Given the description of an element on the screen output the (x, y) to click on. 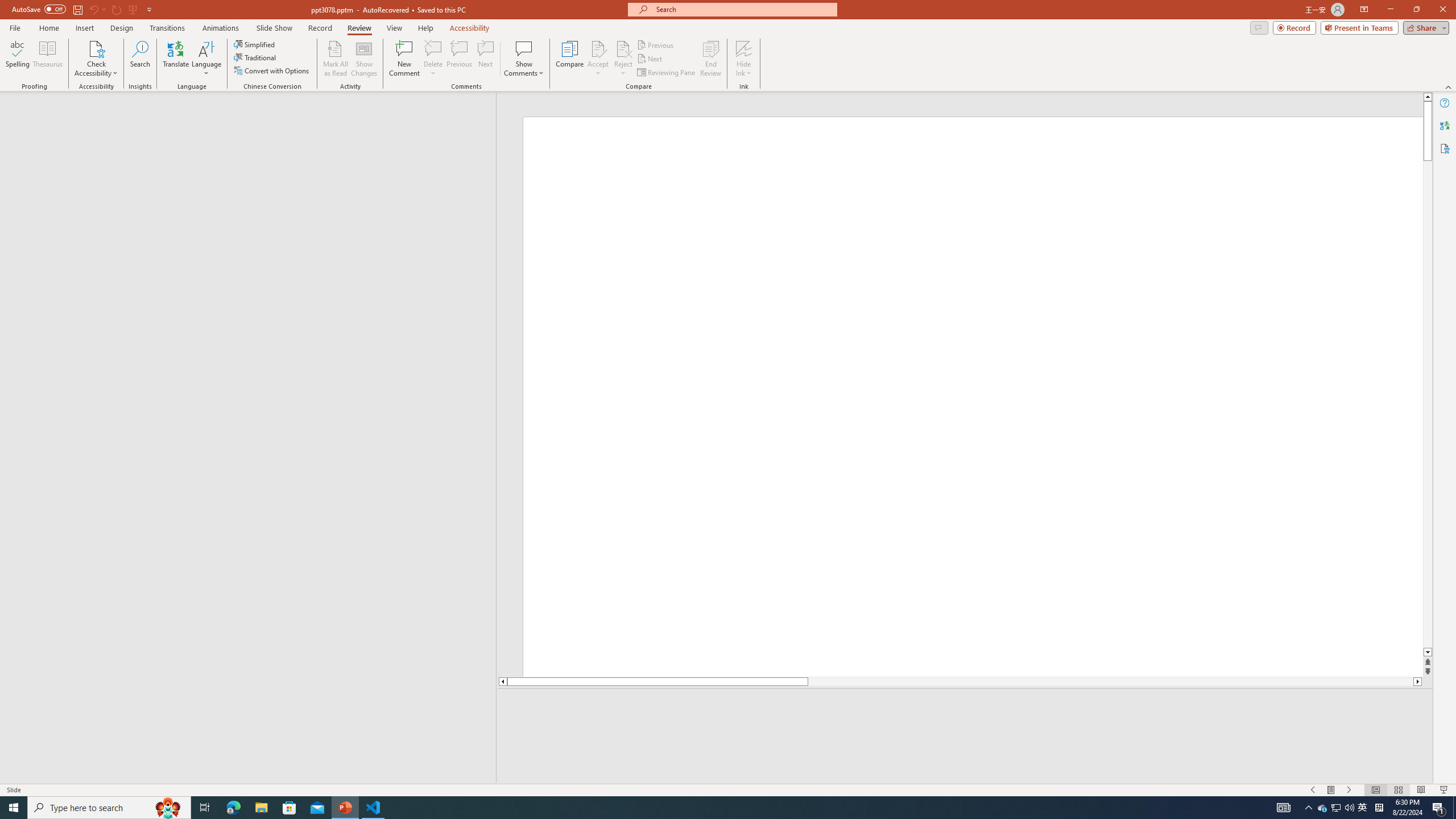
Translate (175, 58)
New Comment (403, 58)
